Given the description of an element on the screen output the (x, y) to click on. 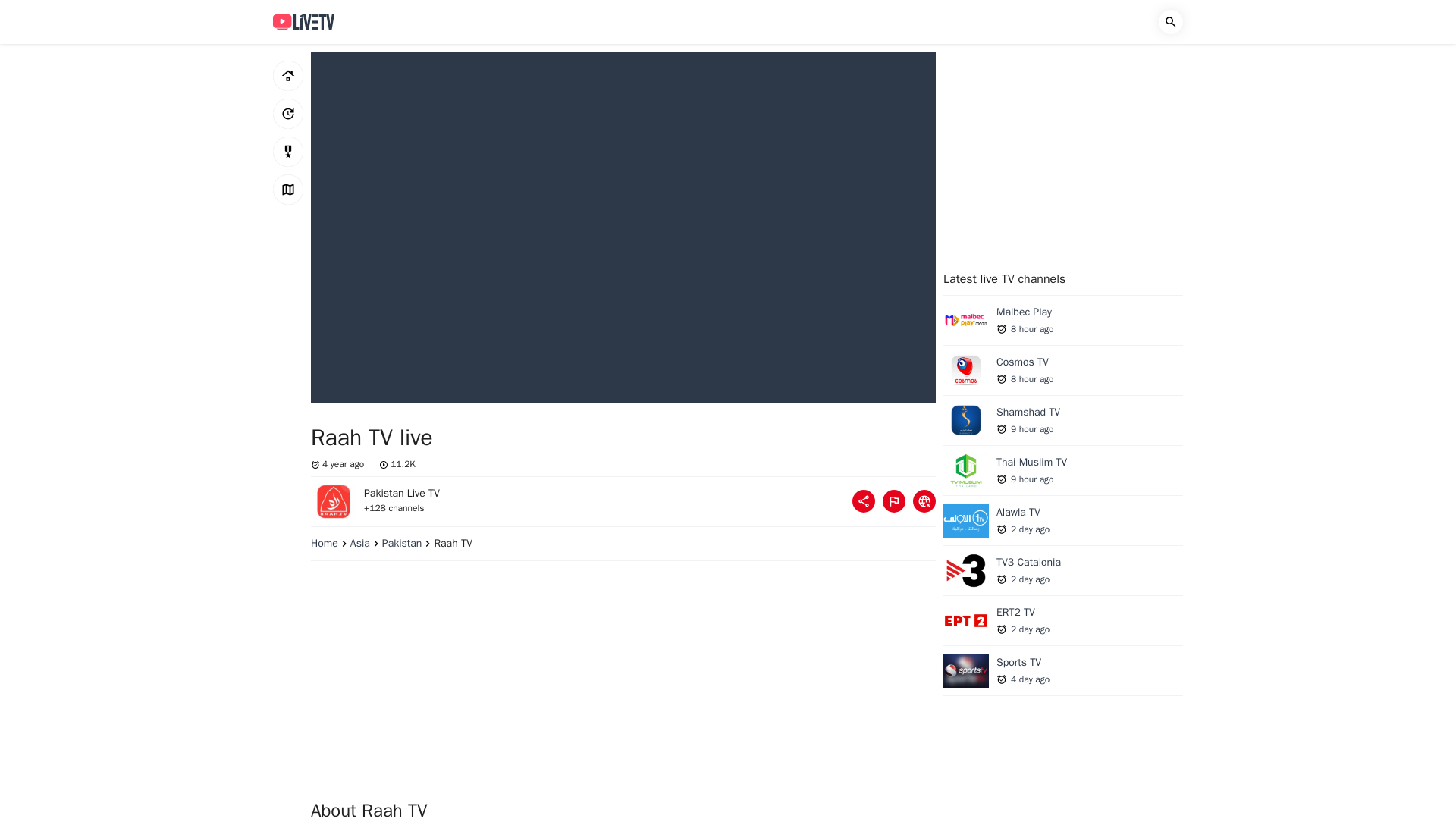
Live TV channels: Live and Replay TV (303, 21)
Asia (365, 543)
Resource Links (924, 500)
Share (1062, 324)
Latest live TV channels (1062, 524)
Pakistan (863, 500)
Raah TV Live stream (1062, 474)
Raah TV live (287, 113)
Home (407, 543)
Top live TV channels (1062, 373)
